Given the description of an element on the screen output the (x, y) to click on. 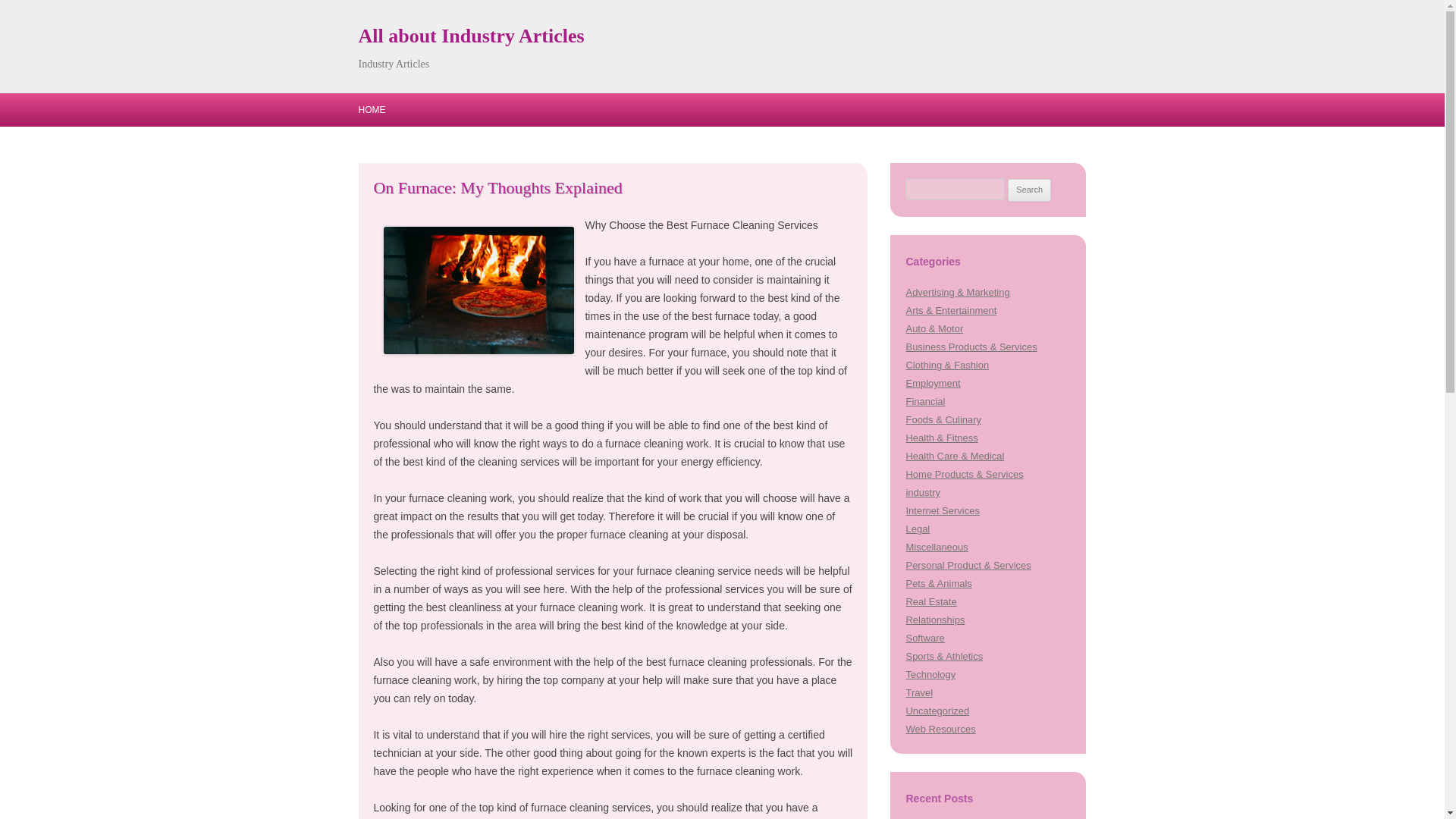
All about Industry Articles (470, 36)
Search (1029, 190)
Web Resources (940, 728)
Software (924, 637)
Uncategorized (937, 710)
Travel (919, 692)
Miscellaneous (936, 546)
Legal (917, 528)
Real Estate (930, 601)
